Given the description of an element on the screen output the (x, y) to click on. 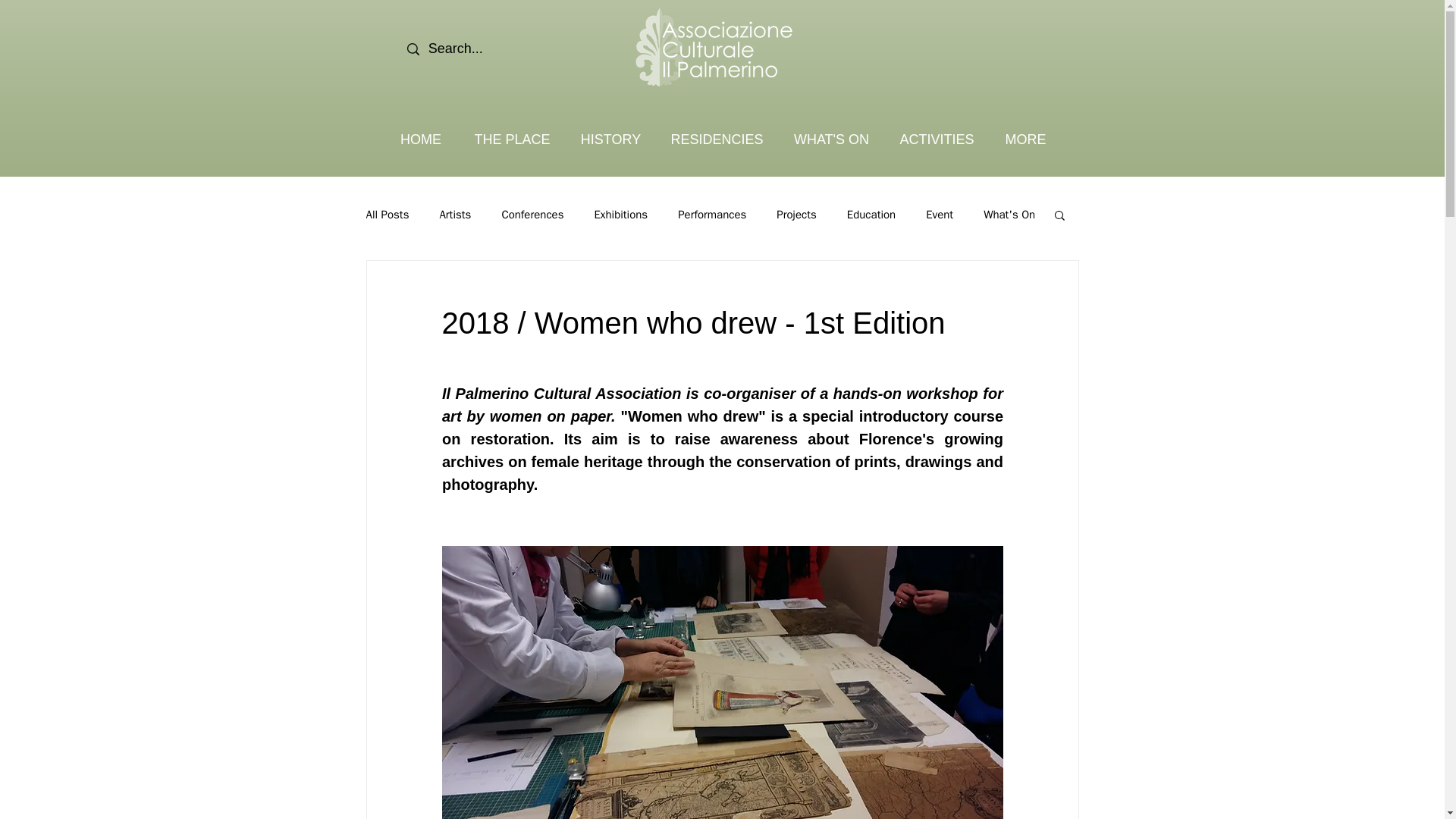
WHAT'S ON (831, 139)
Exhibitions (620, 214)
Artists (454, 214)
All Posts (387, 214)
ACTIVITIES (936, 139)
Performances (711, 214)
Education (871, 214)
Projects (795, 214)
HISTORY (611, 139)
HOME (419, 139)
